Given the description of an element on the screen output the (x, y) to click on. 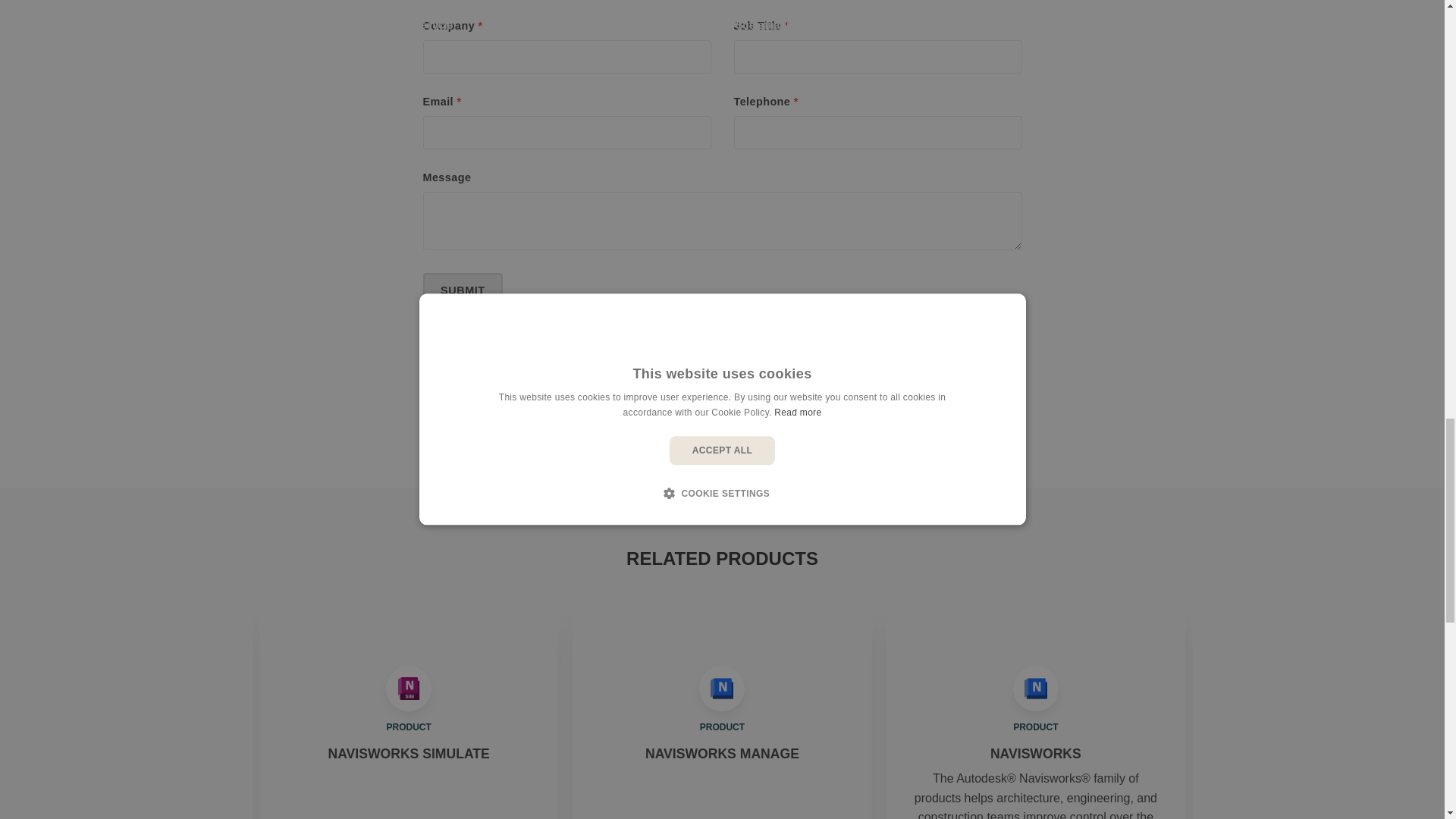
Submit (463, 290)
